Given the description of an element on the screen output the (x, y) to click on. 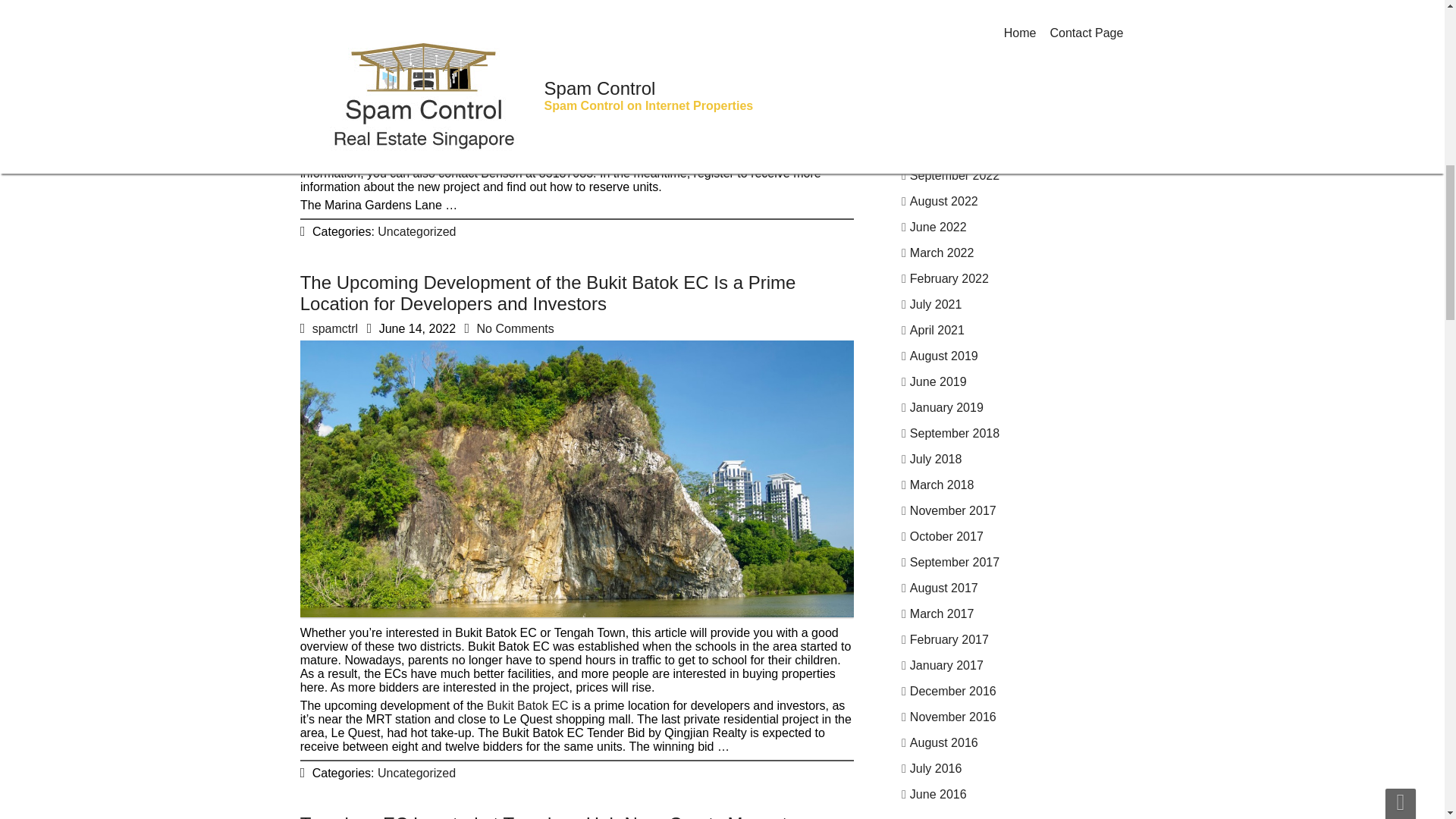
Posts by spamctrl (335, 38)
Uncategorized (419, 229)
Uncategorized (416, 772)
Marina Gardens Lane Residences (630, 60)
Posts by spamctrl (335, 328)
No Comments (528, 32)
Bukit Batok EC (527, 705)
spamctrl (335, 328)
spamctrl (341, 31)
